Given the description of an element on the screen output the (x, y) to click on. 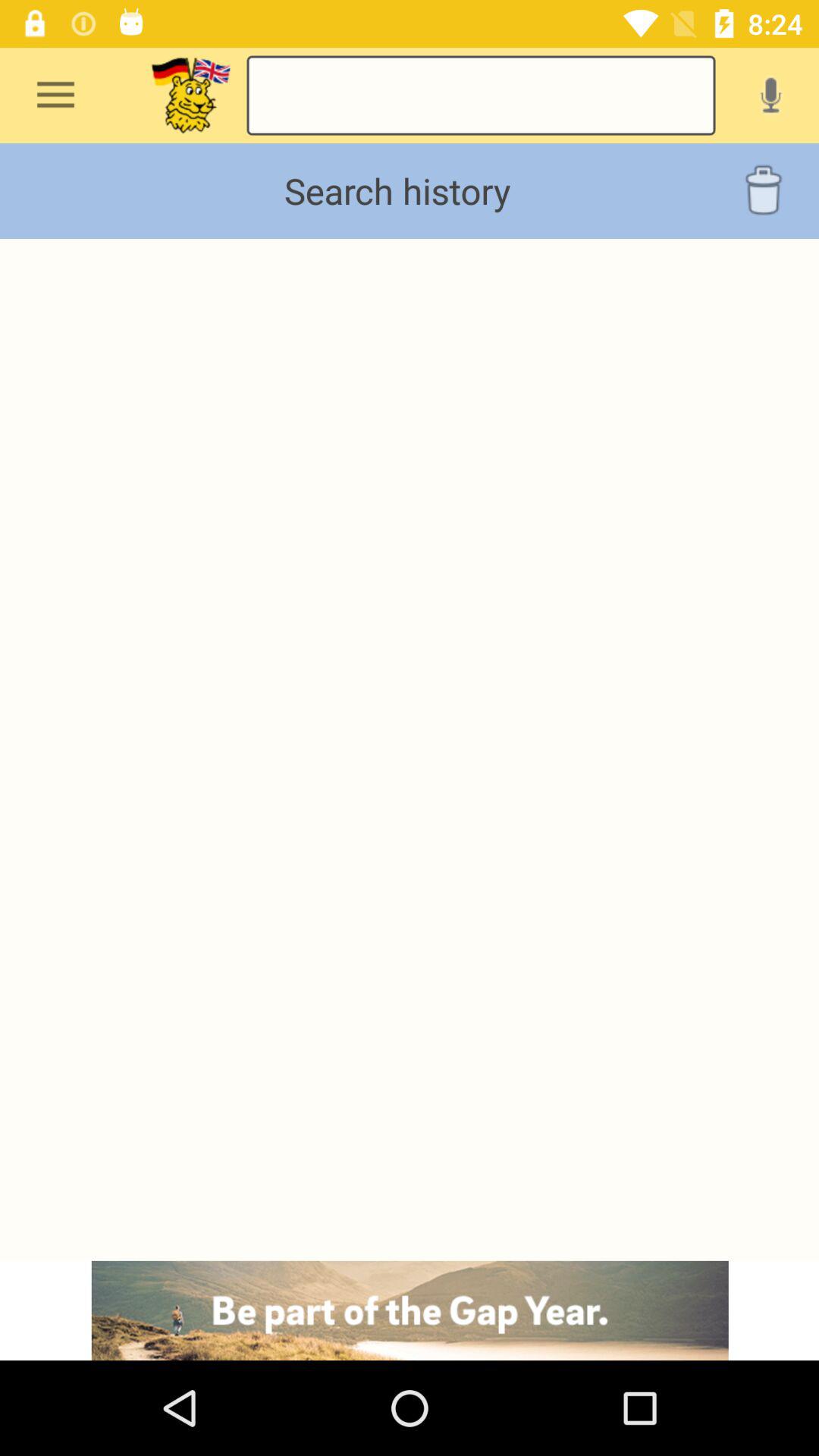
enter search query (480, 95)
